Given the description of an element on the screen output the (x, y) to click on. 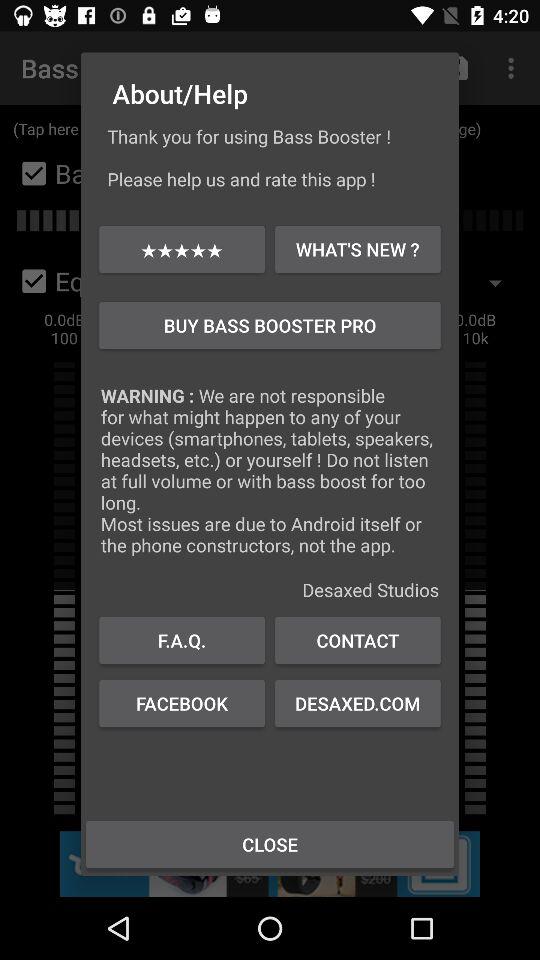
click the icon above close icon (182, 703)
